Given the description of an element on the screen output the (x, y) to click on. 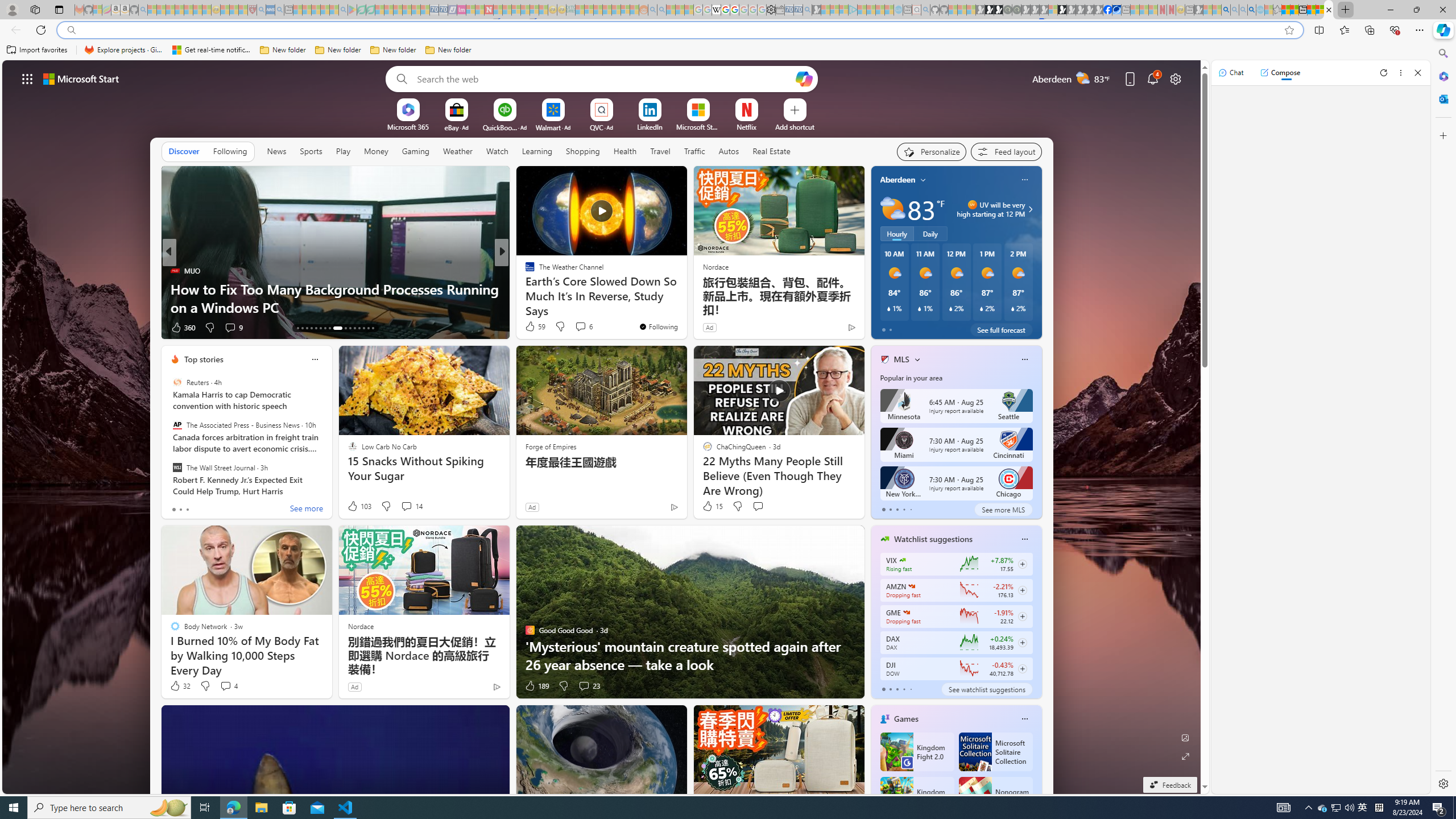
Weather (457, 151)
tab-1 (889, 689)
View comments 8 Comment (580, 327)
AutomationID: tab-23 (349, 328)
Microsoft Start Gaming - Sleeping (815, 9)
Forge of Empires (550, 446)
Real Estate (771, 151)
AMAZON.COM, INC. (911, 586)
